Given the description of an element on the screen output the (x, y) to click on. 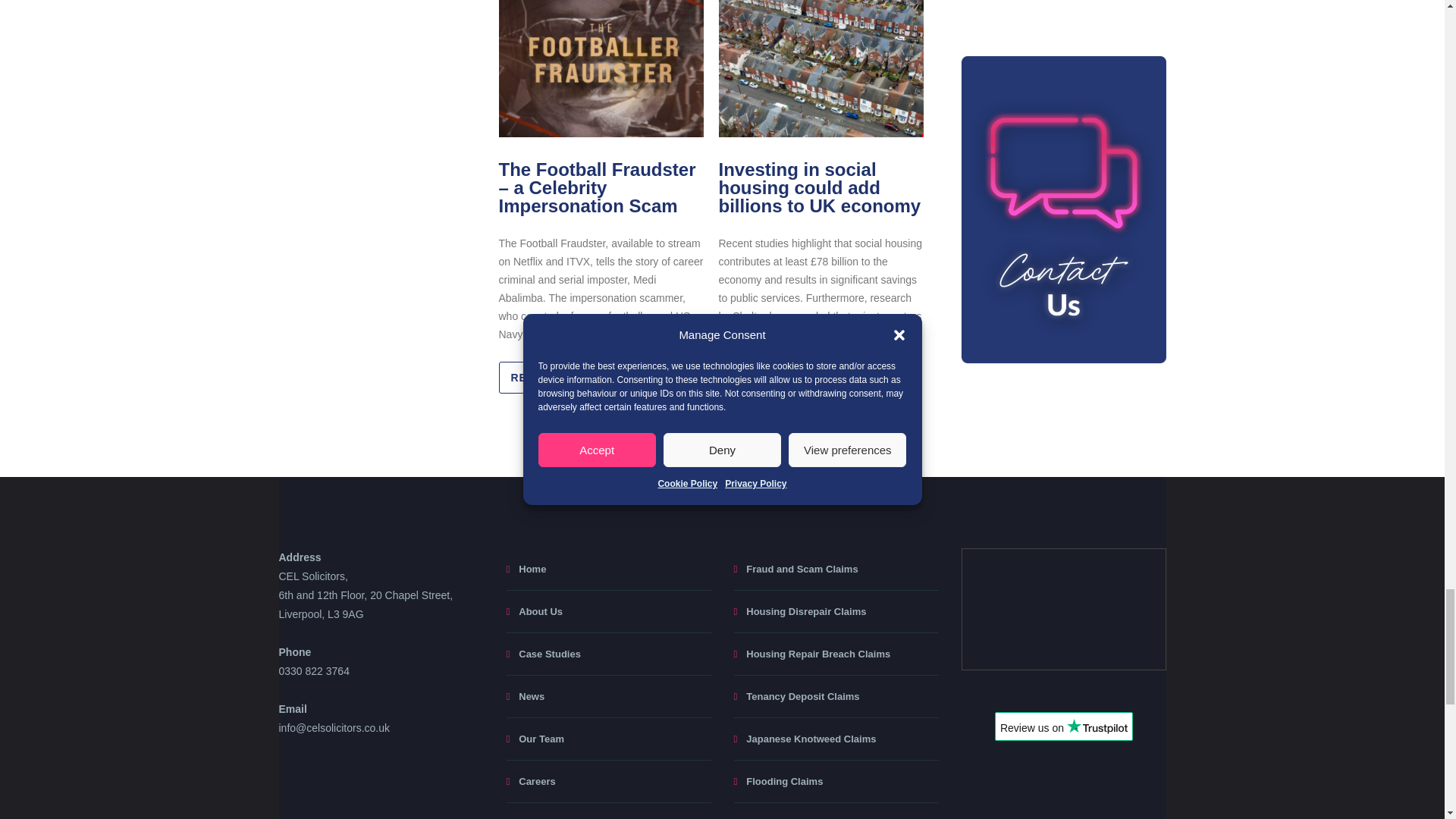
Customer reviews powered by Trustpilot (1063, 731)
CEL Solicitors Solicitors Regulation Authority badge (1062, 608)
